Given the description of an element on the screen output the (x, y) to click on. 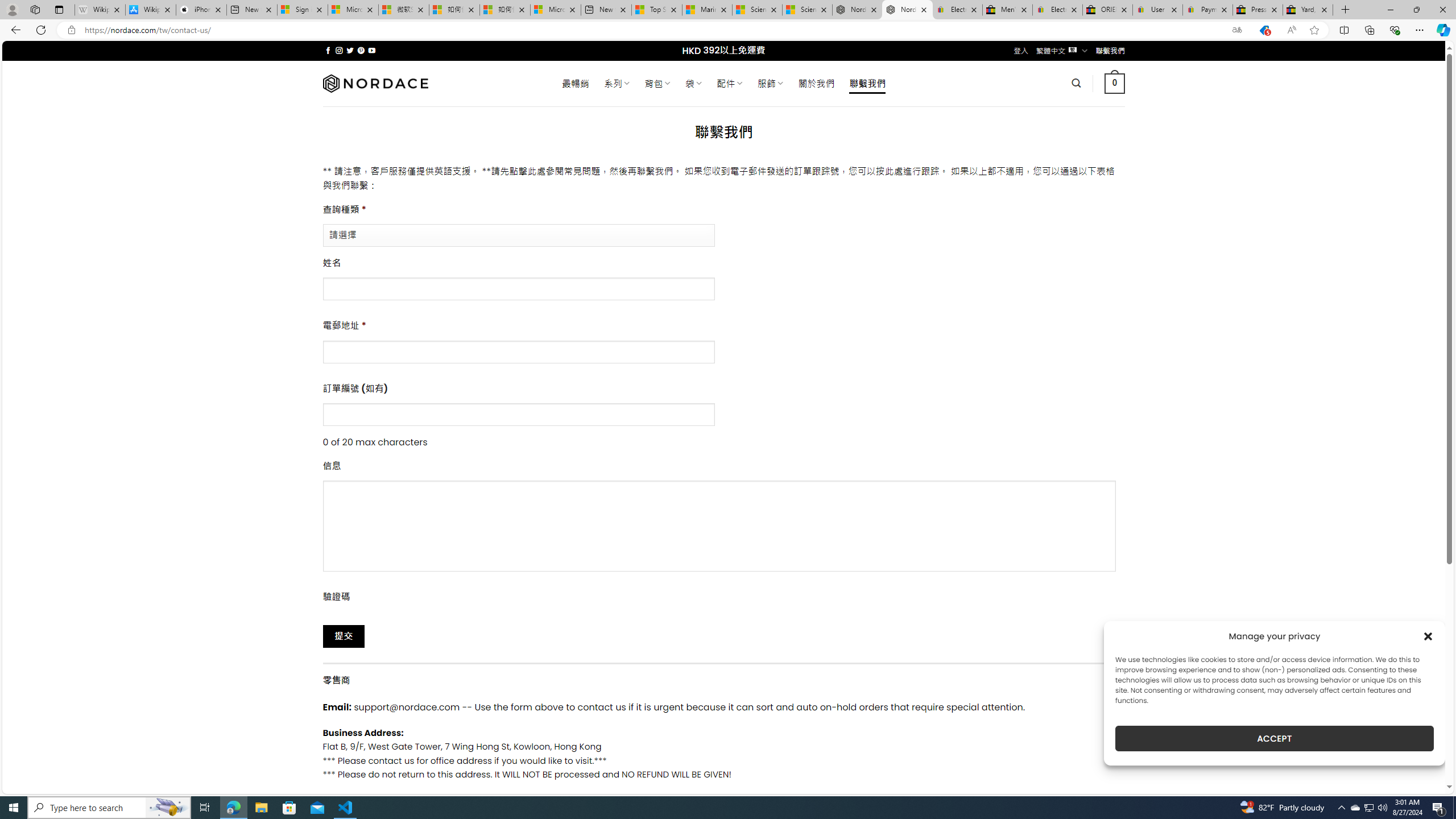
Follow on Facebook (327, 50)
